Given the description of an element on the screen output the (x, y) to click on. 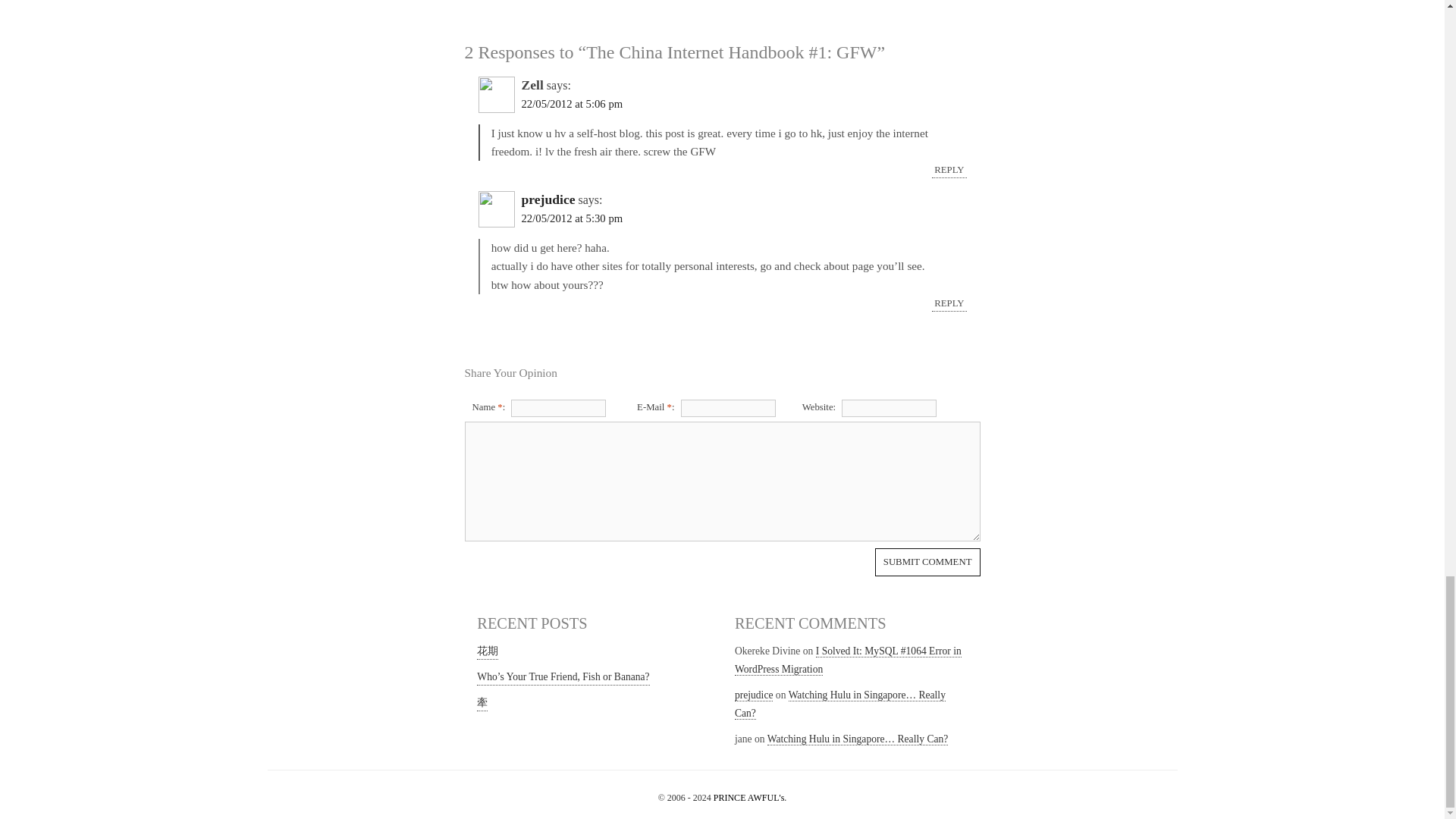
Submit Comment (927, 561)
REPLY (948, 170)
Submit Comment (927, 561)
prejudice (548, 199)
REPLY (948, 303)
